Given the description of an element on the screen output the (x, y) to click on. 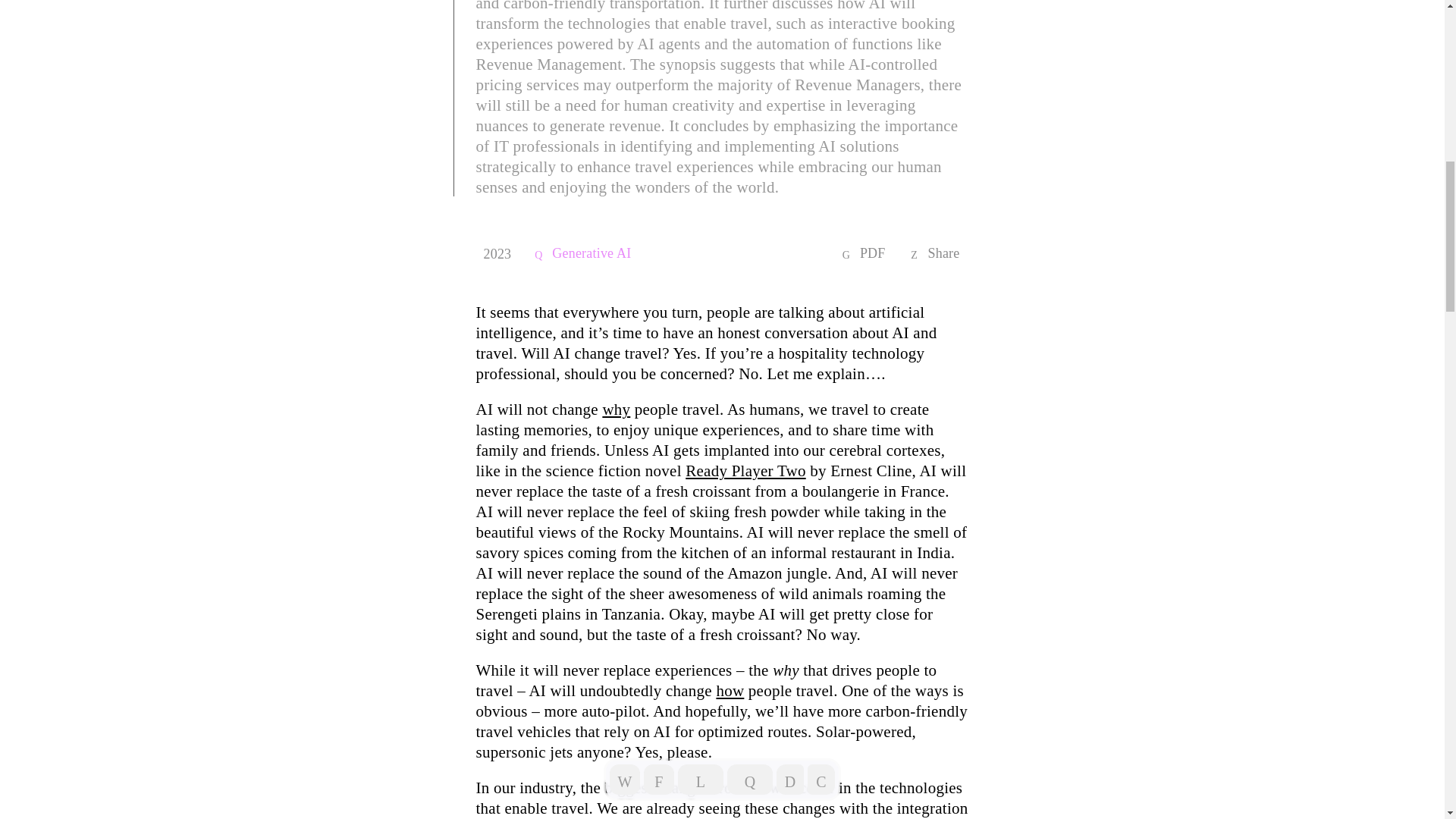
2023 (497, 253)
Share (948, 253)
PDF (877, 253)
Generative AI (595, 253)
